Given the description of an element on the screen output the (x, y) to click on. 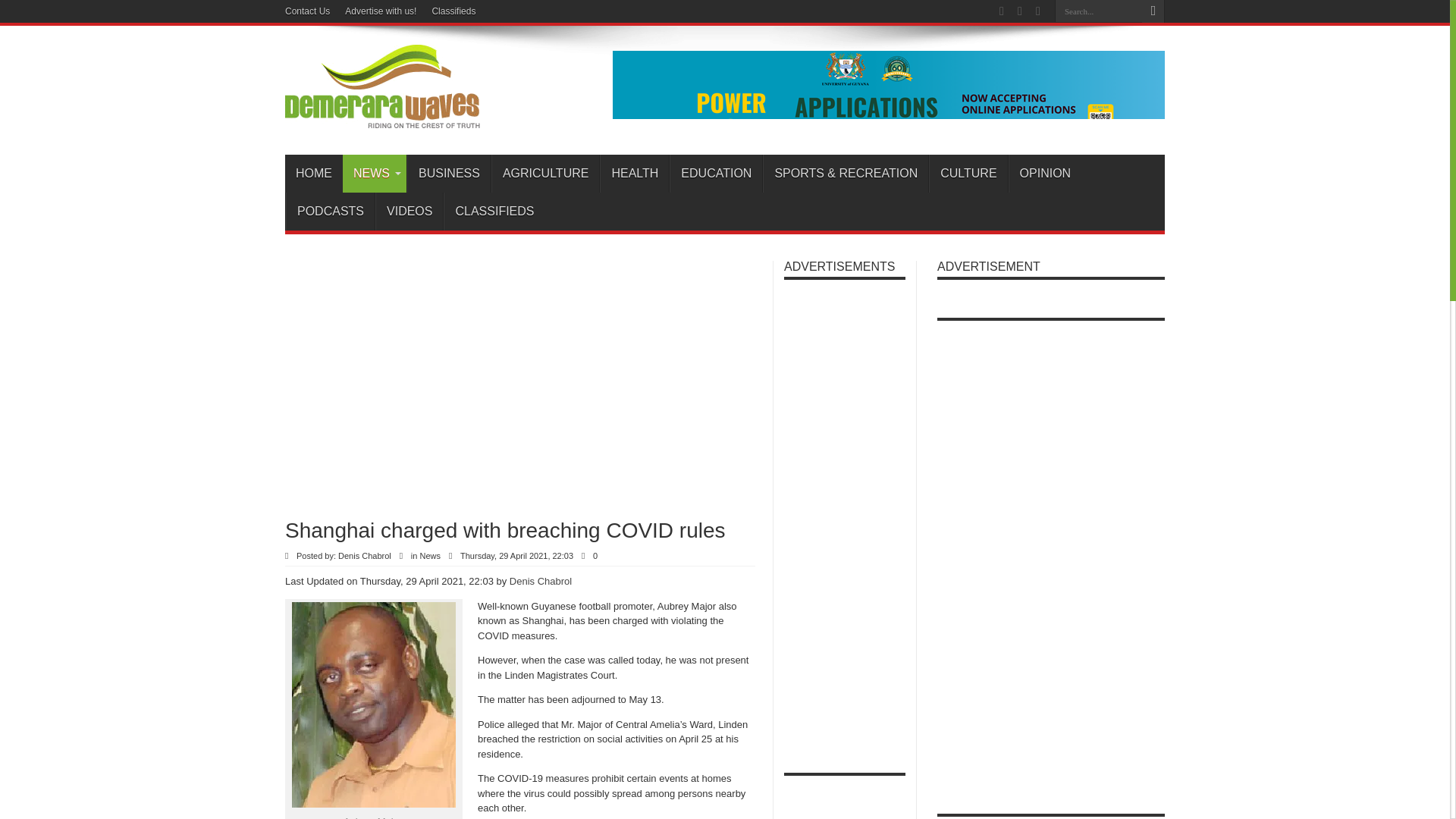
AGRICULTURE (545, 173)
OPINION (1045, 173)
Advertise with us! (380, 11)
Denis Chabrol (540, 581)
CULTURE (967, 173)
Demerara Waves Online News- Guyana (382, 116)
Search (1152, 11)
EDUCATION (715, 173)
HEALTH (633, 173)
BUSINESS (448, 173)
0 (598, 555)
Contact Us (307, 11)
VIDEOS (408, 211)
CLASSIFIEDS (494, 211)
Advertisement (462, 382)
